Given the description of an element on the screen output the (x, y) to click on. 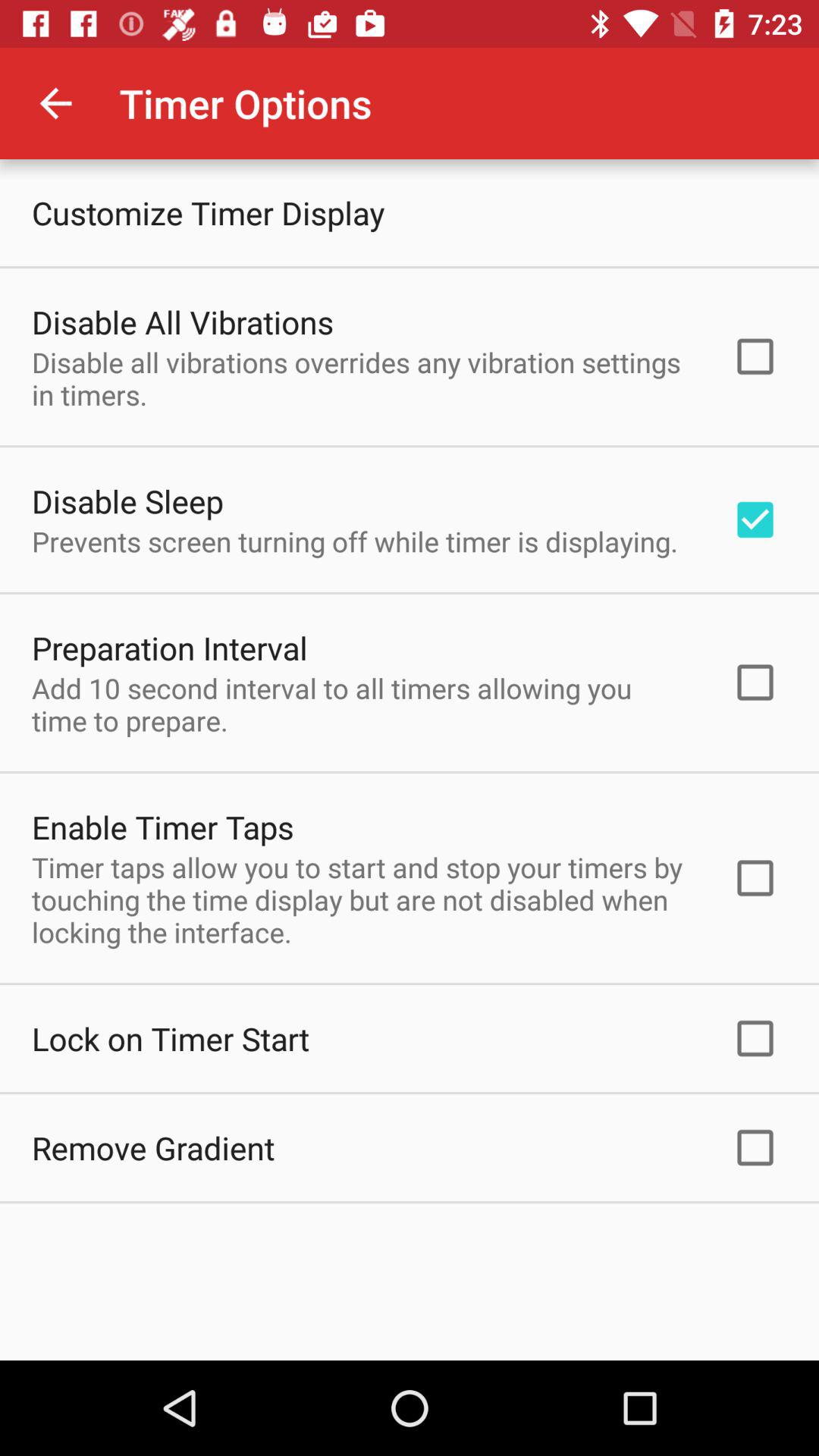
jump until the prevents screen turning item (354, 541)
